Given the description of an element on the screen output the (x, y) to click on. 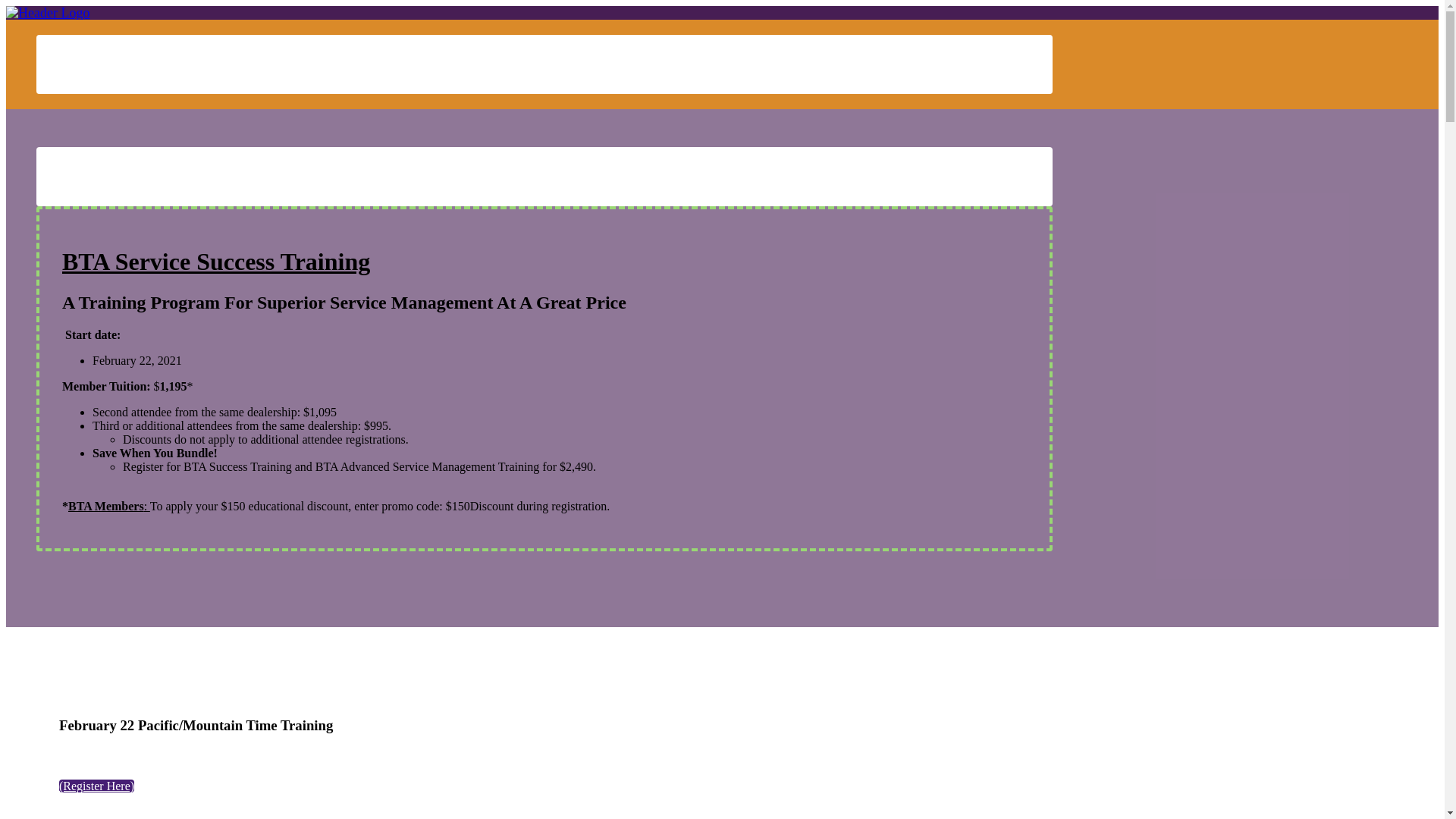
(Register Here) Element type: text (96, 785)
